Given the description of an element on the screen output the (x, y) to click on. 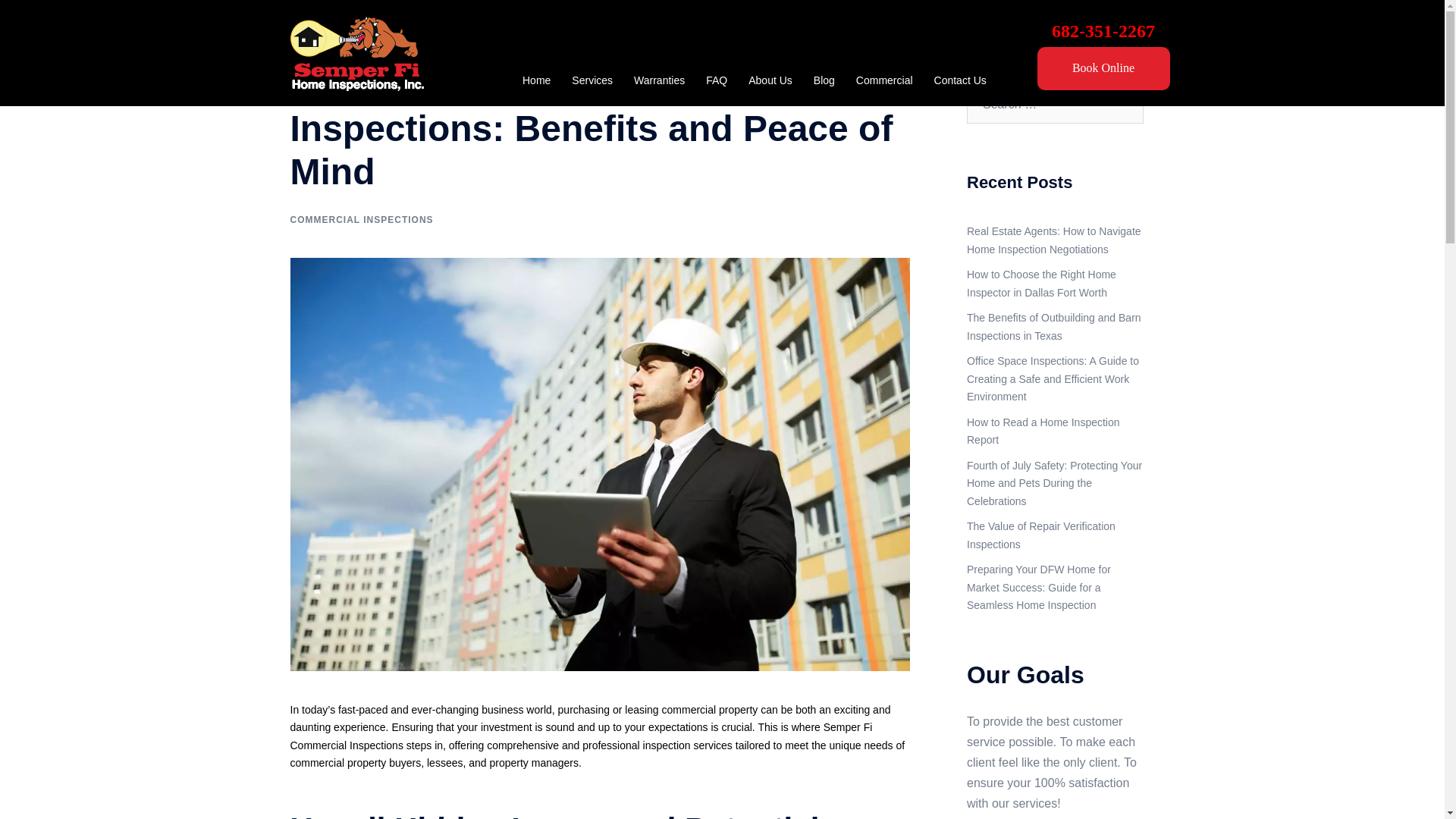
Book Online (1103, 68)
Contact Us (960, 81)
How to Choose the Right Home Inspector in Dallas Fort Worth (1041, 283)
About Us (770, 81)
Warranties (658, 81)
Services (592, 81)
Home (536, 81)
Search (49, 18)
Blog (823, 81)
COMMERCIAL INSPECTIONS (360, 219)
Commercial (884, 81)
FAQ (716, 81)
The Benefits of Outbuilding and Barn Inspections in Texas (1053, 327)
